Given the description of an element on the screen output the (x, y) to click on. 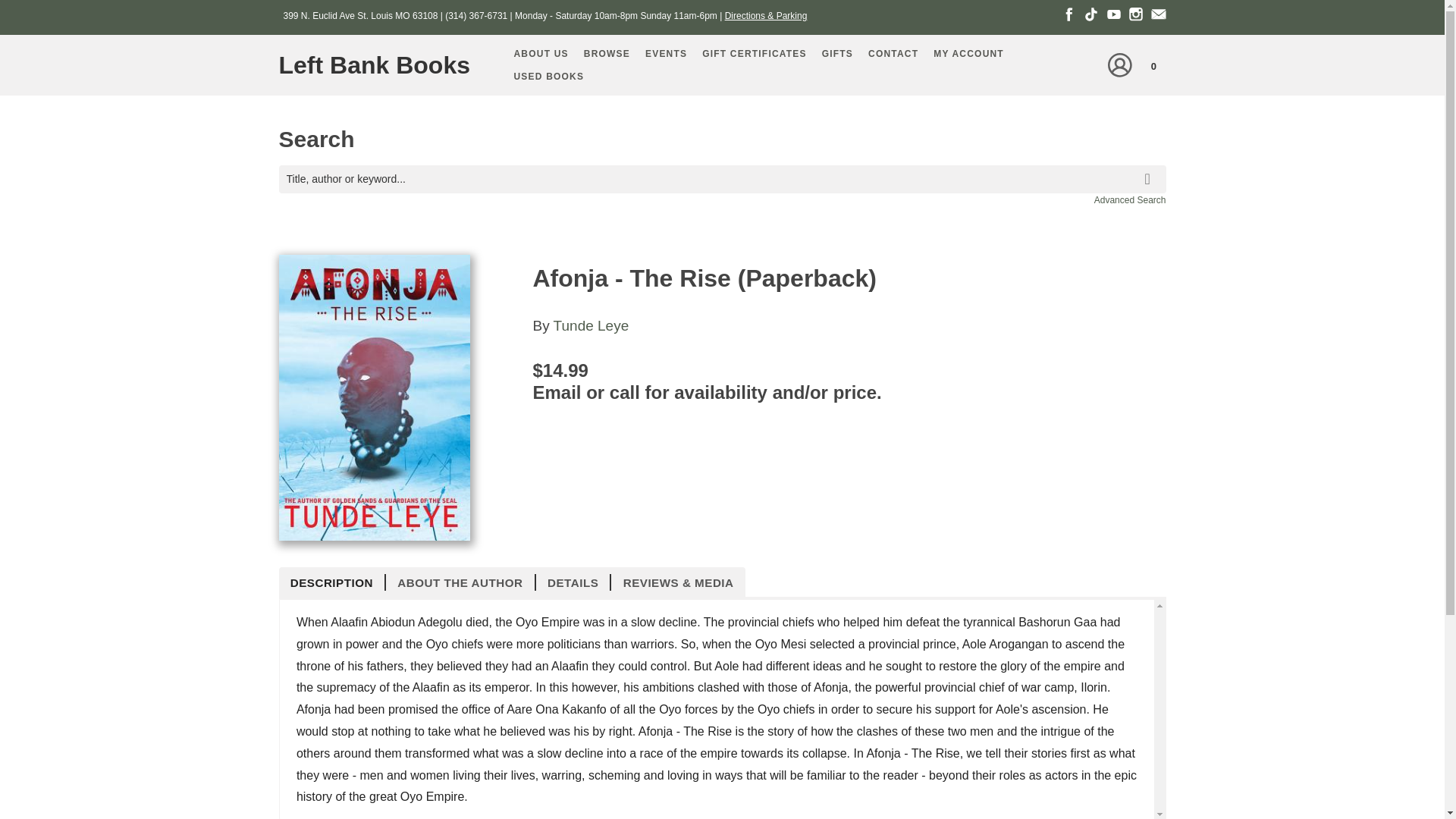
search (1150, 167)
Home (381, 64)
T-Shirts, Gifts and More (836, 53)
Left Bank Books (381, 64)
GIFTS (836, 53)
BROWSE (606, 53)
Title, author or keyword... (722, 179)
GIFT CERTIFICATES (753, 53)
ABOUT US (541, 53)
